Given the description of an element on the screen output the (x, y) to click on. 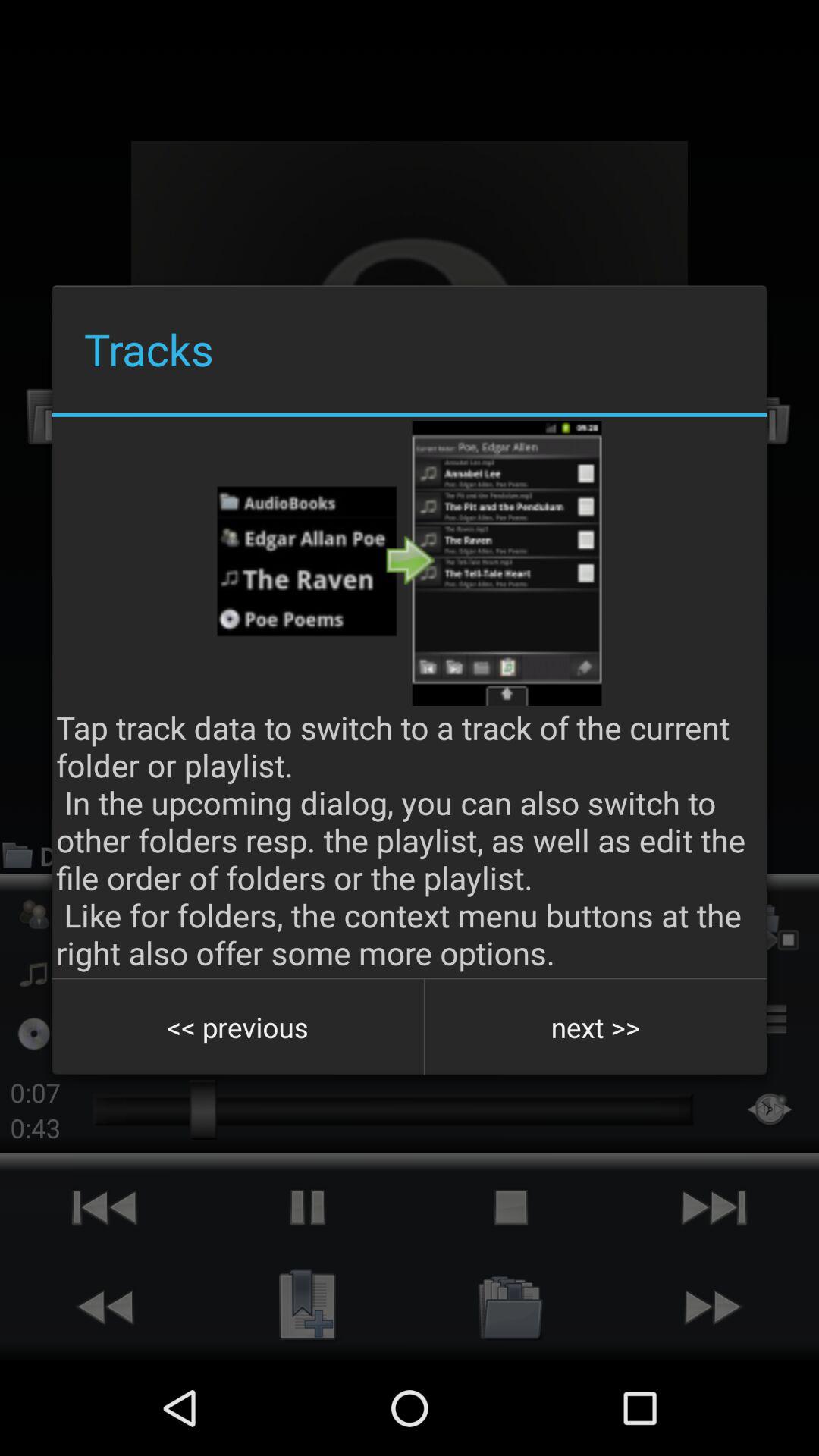
flip until the << previous button (237, 1026)
